Given the description of an element on the screen output the (x, y) to click on. 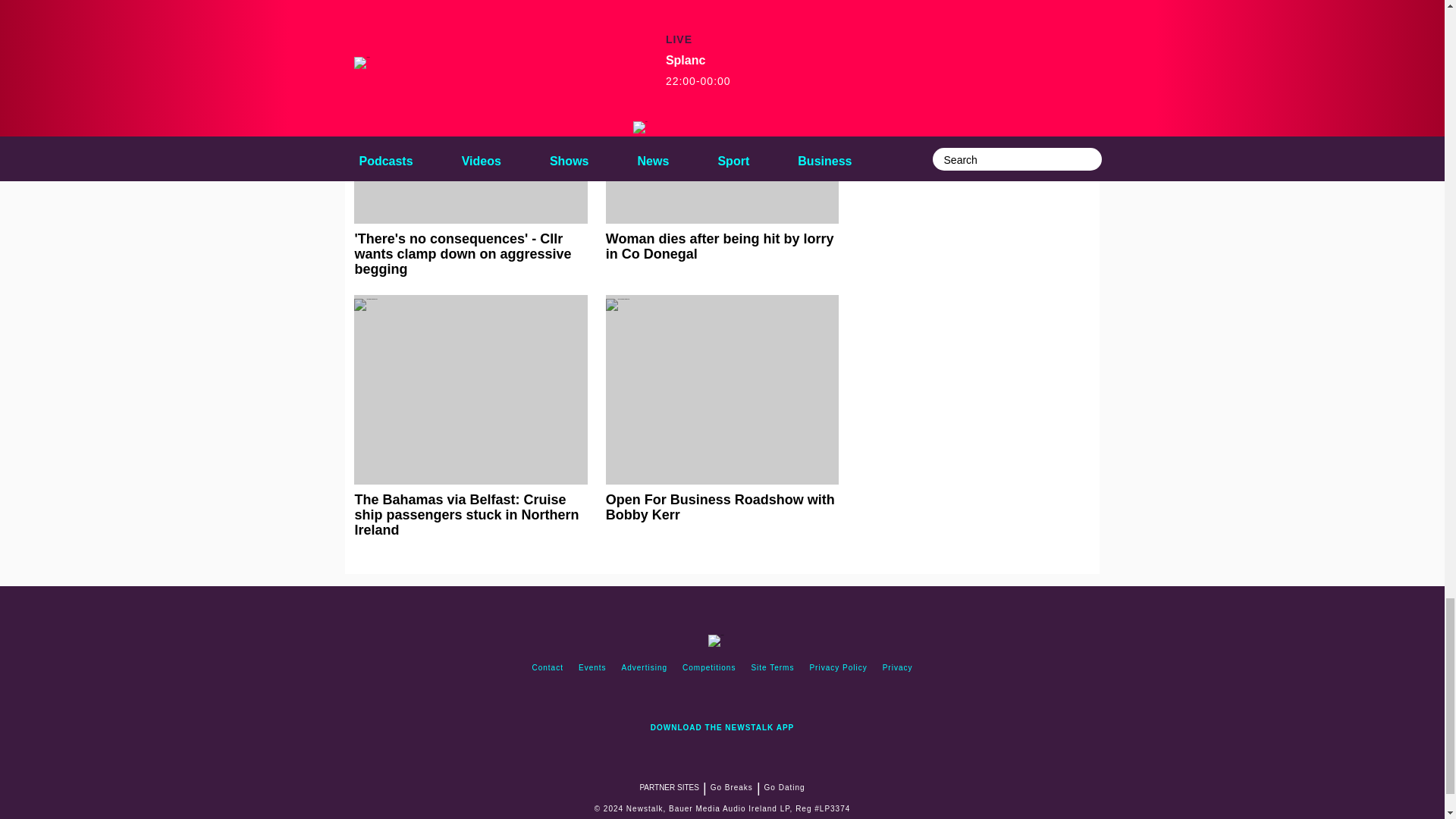
site terms (772, 667)
Privacy (897, 667)
events (592, 667)
advertising (644, 667)
Privacy Policy (838, 667)
competitions (708, 667)
contact (547, 667)
